Given the description of an element on the screen output the (x, y) to click on. 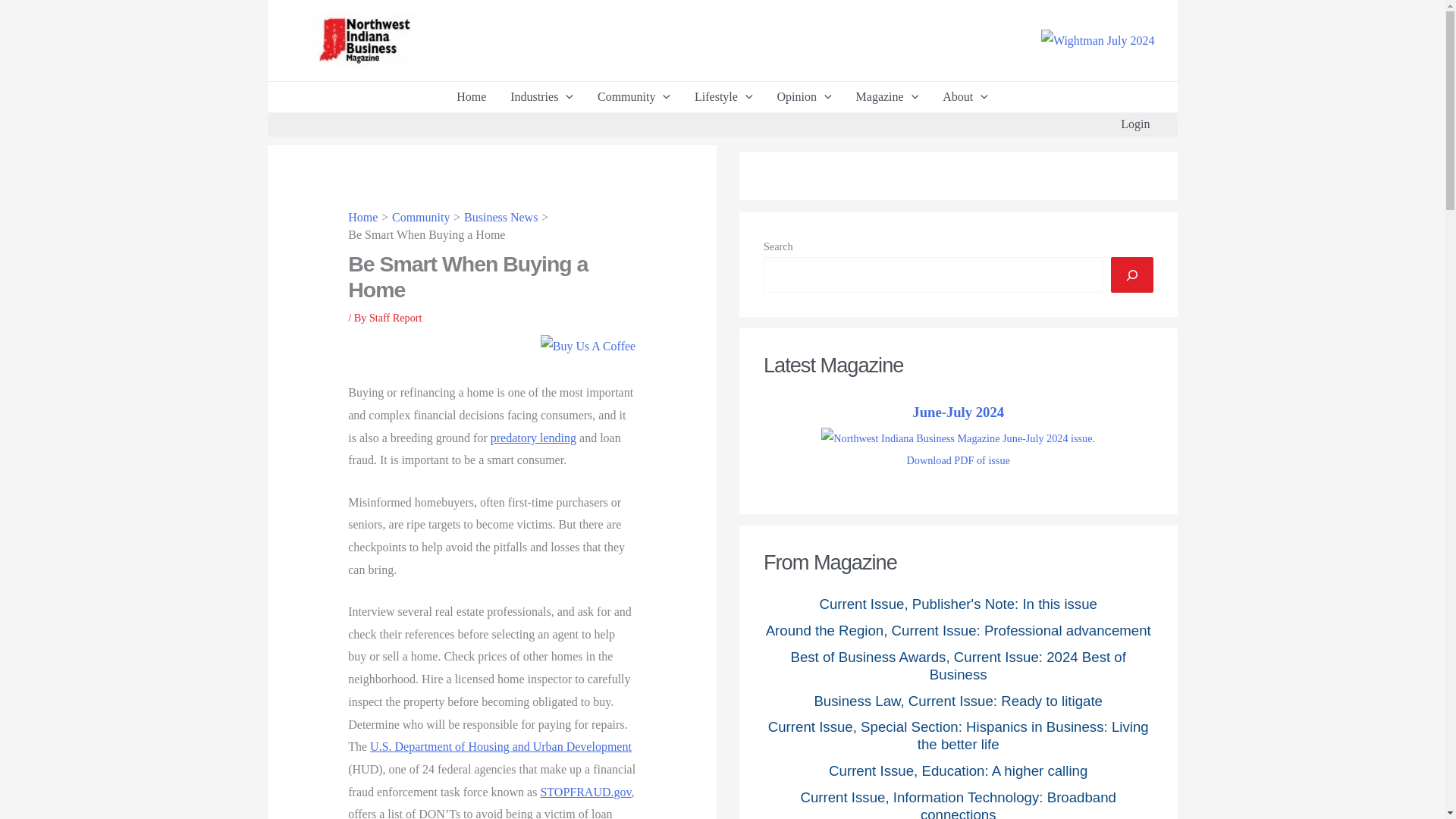
Opinion (803, 96)
Lifestyle (723, 96)
Community (633, 96)
Industries (541, 96)
United States Department of Housing and Urban Development (500, 746)
Home (470, 96)
Predatory lending (533, 437)
View all posts by Staff Report (395, 317)
Magazine (887, 96)
